Given the description of an element on the screen output the (x, y) to click on. 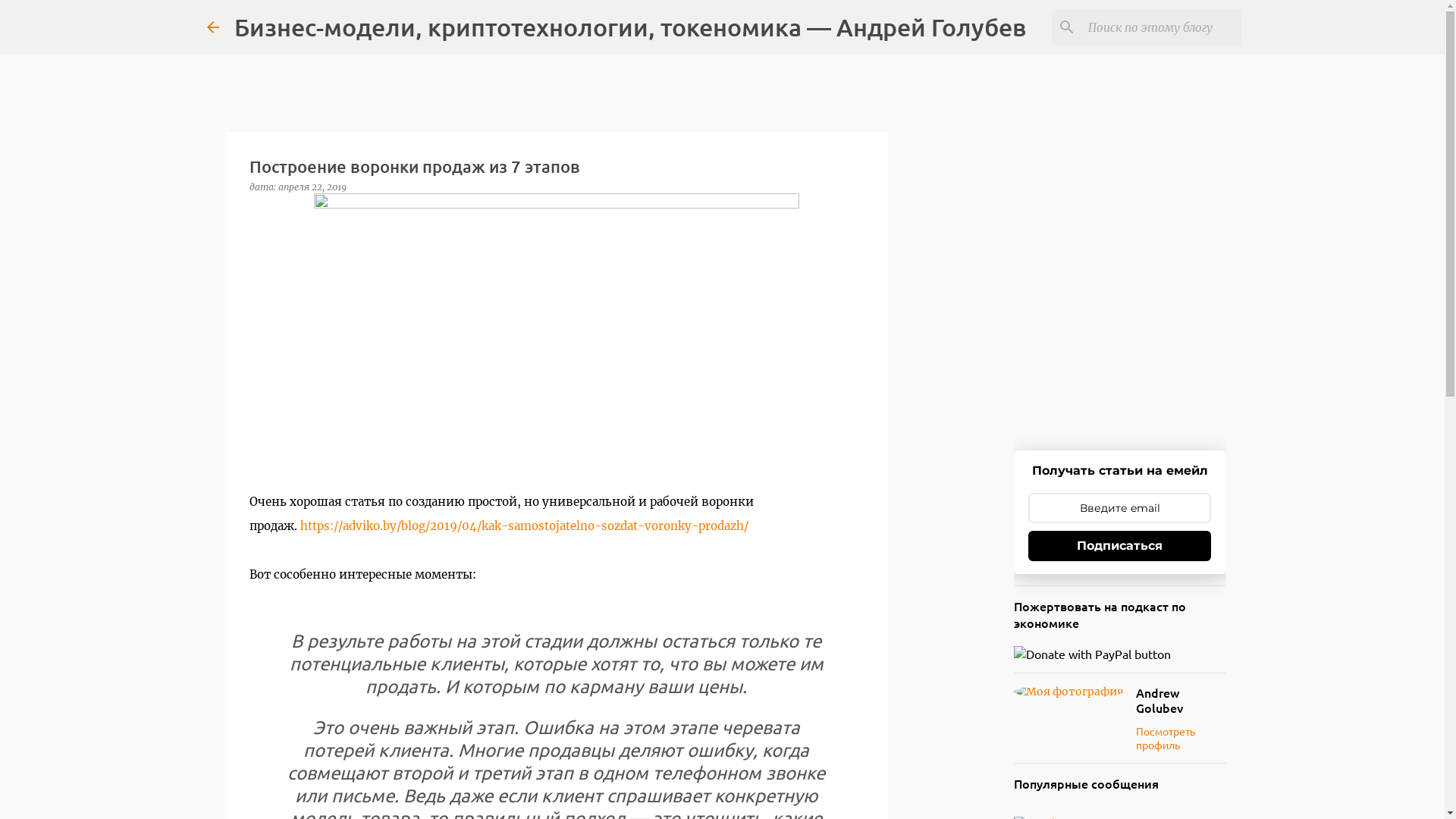
PayPal - The safer, easier way to pay online! Element type: hover (1091, 653)
Andrew Golubev Element type: text (1180, 699)
